Given the description of an element on the screen output the (x, y) to click on. 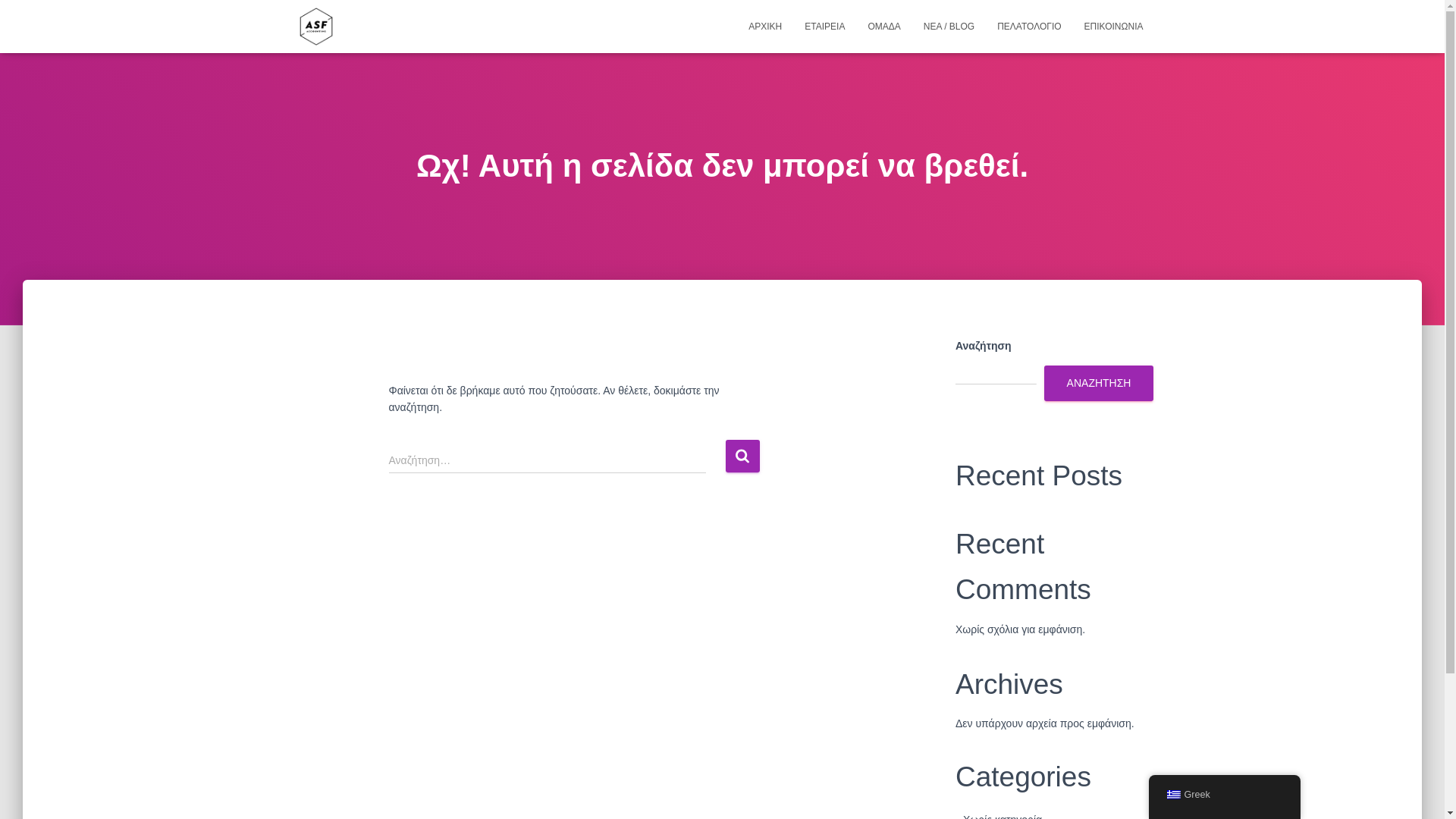
A.S.F. Accounting I.K.E. (316, 26)
Greek (1172, 794)
Greek (1224, 794)
